Given the description of an element on the screen output the (x, y) to click on. 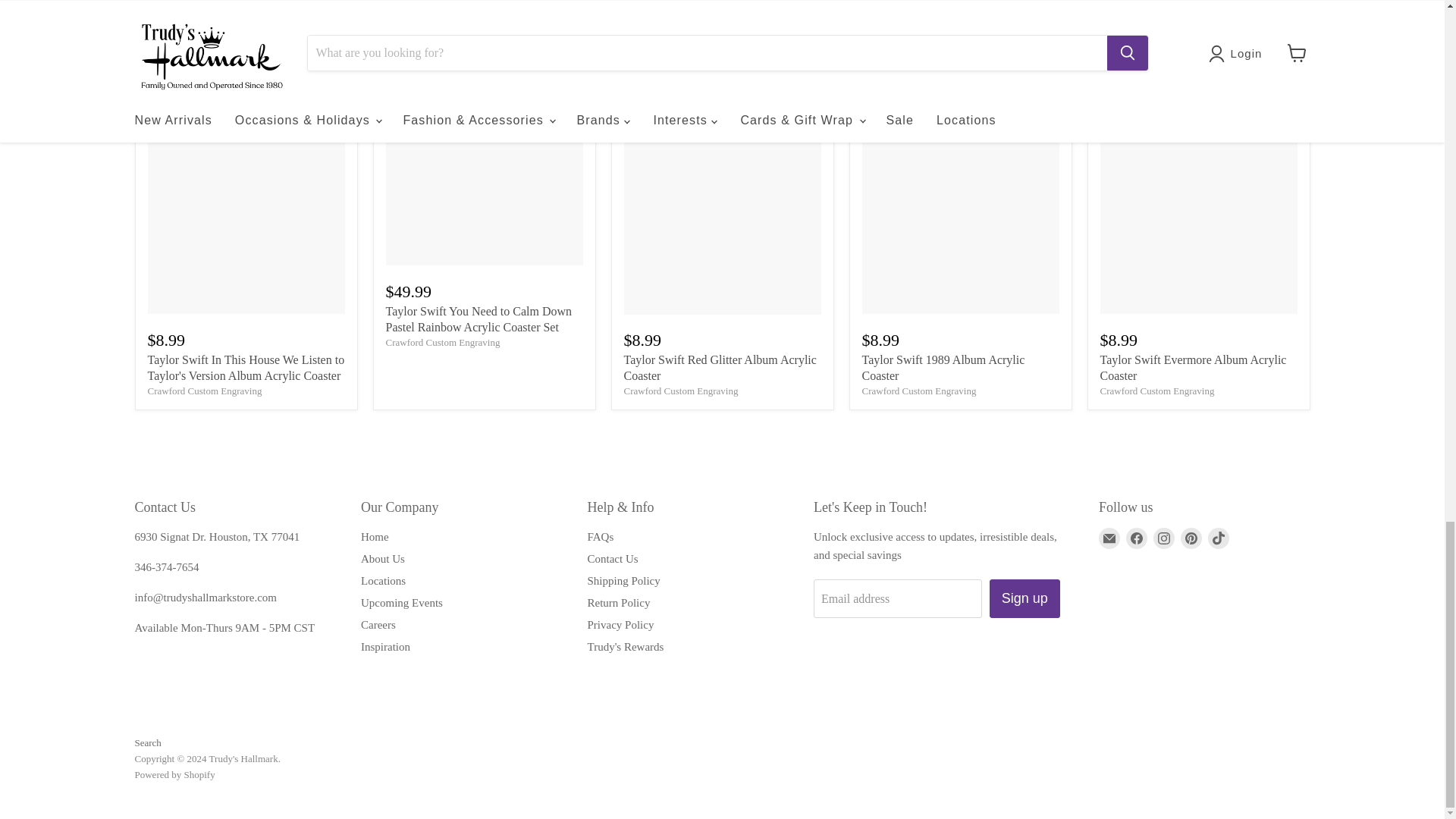
Crawford Custom Engraving (442, 342)
Crawford Custom Engraving (1156, 390)
Pinterest (1191, 537)
TikTok (1218, 537)
Crawford Custom Engraving (918, 390)
Crawford Custom Engraving (680, 390)
Facebook (1136, 537)
Email (1109, 537)
Crawford Custom Engraving (204, 390)
Instagram (1163, 537)
